Given the description of an element on the screen output the (x, y) to click on. 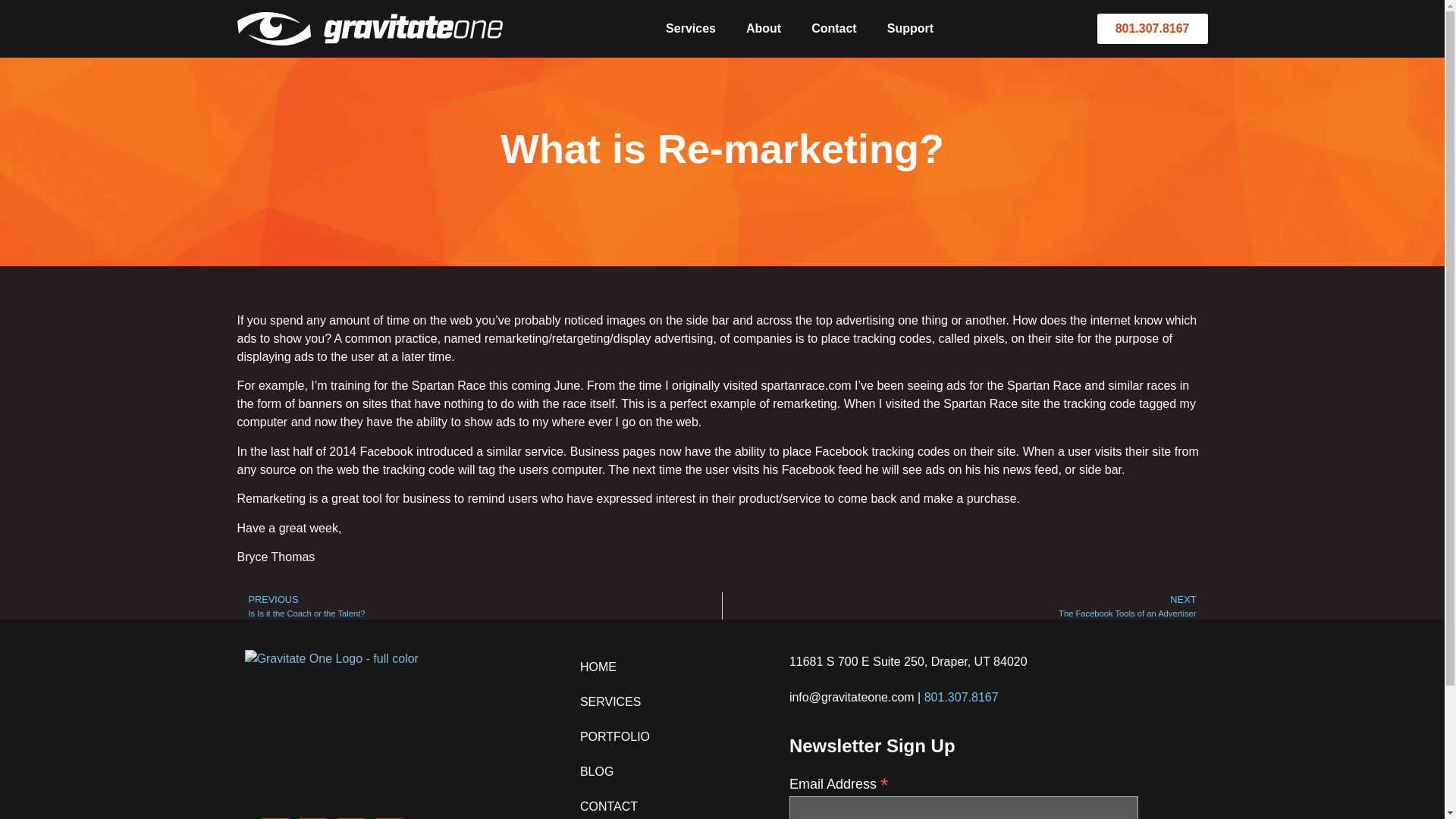
About (763, 28)
801.307.8167 (1152, 28)
Support (910, 28)
Homepage (547, 726)
Contact (834, 28)
Services (478, 605)
